Given the description of an element on the screen output the (x, y) to click on. 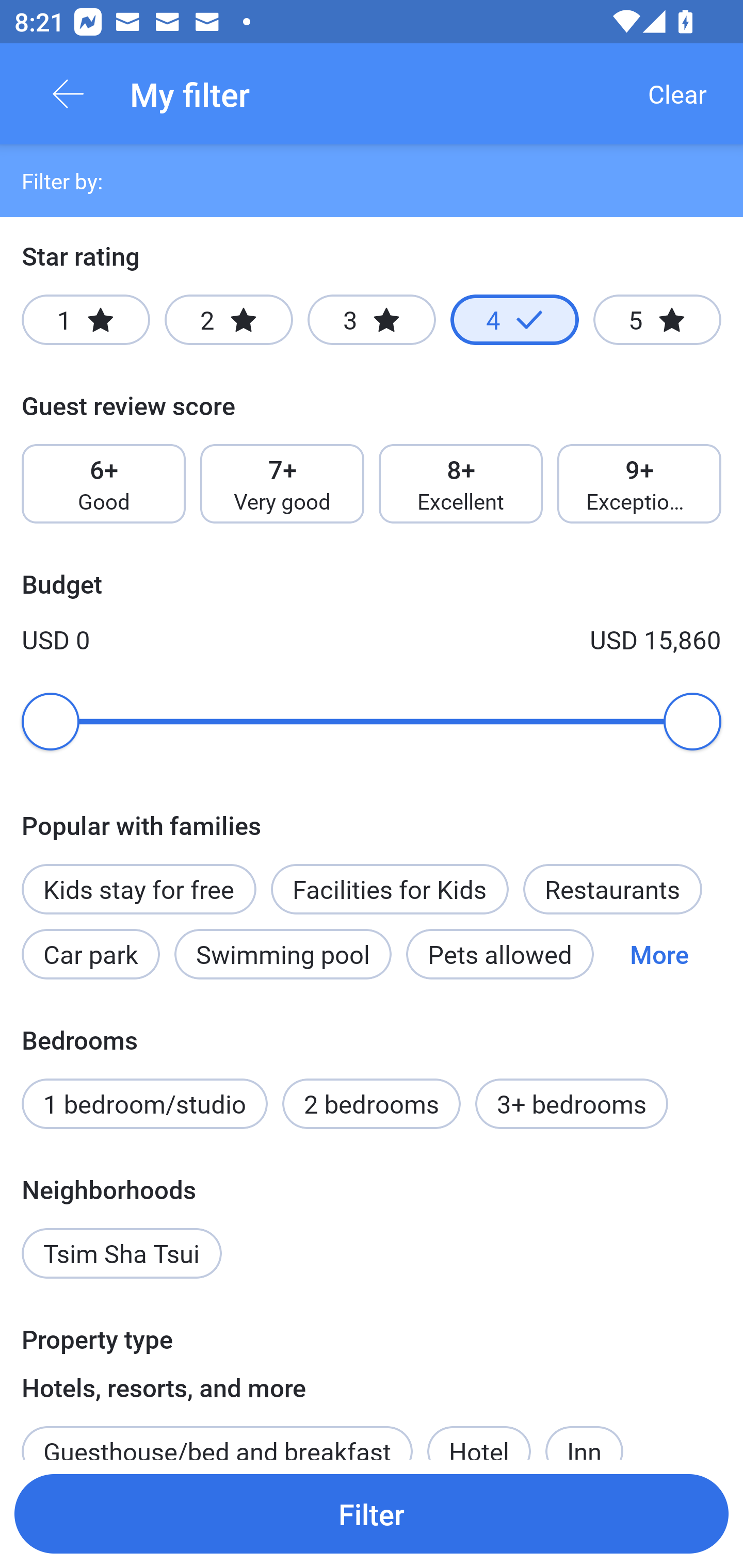
Clear (676, 93)
1 (85, 319)
2 (228, 319)
3 (371, 319)
5 (657, 319)
6+ Good (103, 483)
7+ Very good (281, 483)
8+ Excellent (460, 483)
9+ Exceptional (639, 483)
Kids stay for free (138, 888)
Facilities for Kids (389, 888)
Restaurants (612, 888)
Car park (90, 954)
Swimming pool (282, 954)
Pets allowed (499, 954)
More (659, 954)
1 bedroom/studio (144, 1103)
2 bedrooms (371, 1103)
3+ bedrooms (571, 1103)
Tsim Sha Tsui (121, 1253)
Guesthouse/bed and breakfast (217, 1433)
Hotel (479, 1433)
Inn (583, 1433)
Filter (371, 1513)
